Given the description of an element on the screen output the (x, y) to click on. 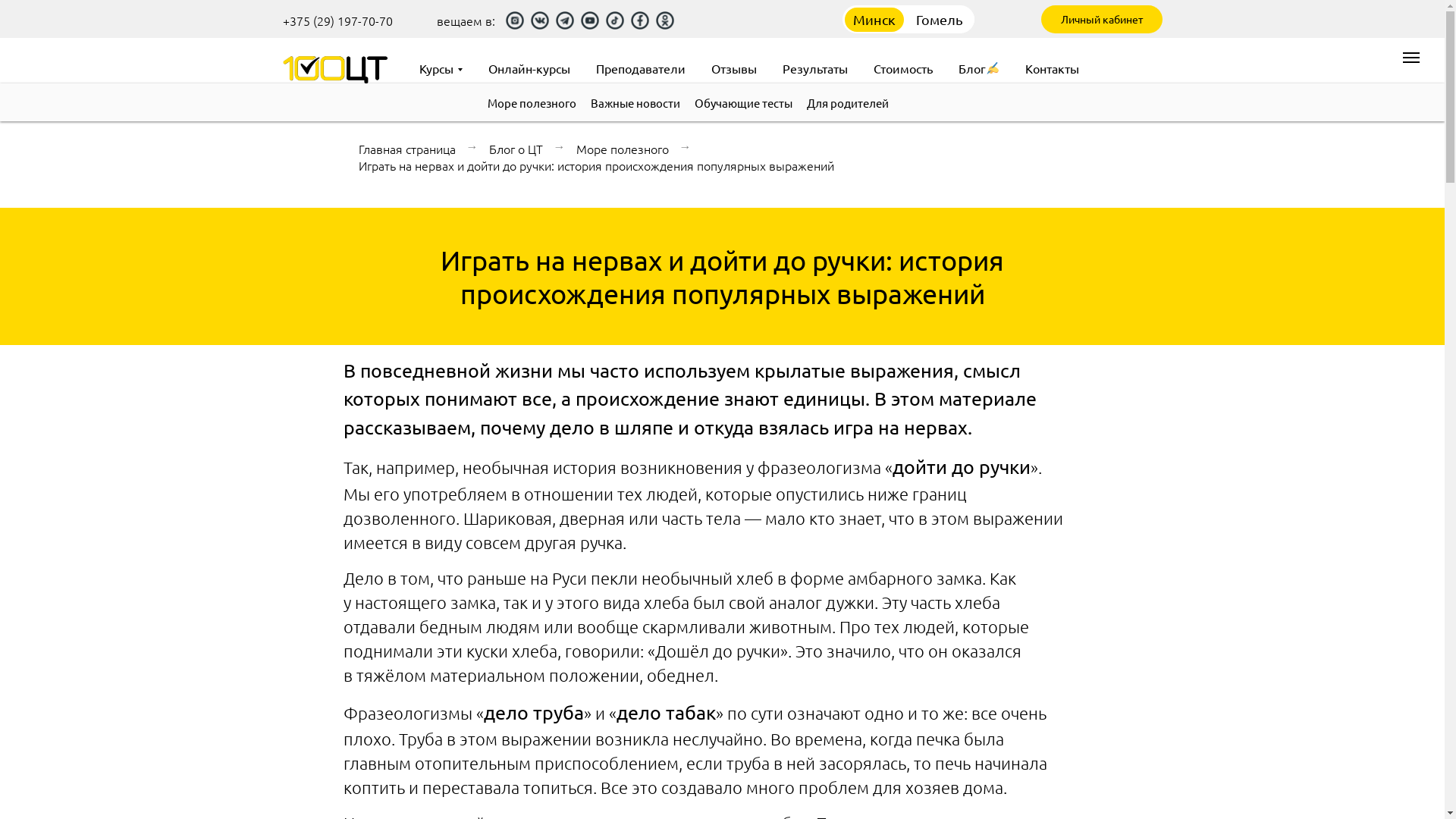
+375 (29) 197-70-70 Element type: text (337, 20)
